Given the description of an element on the screen output the (x, y) to click on. 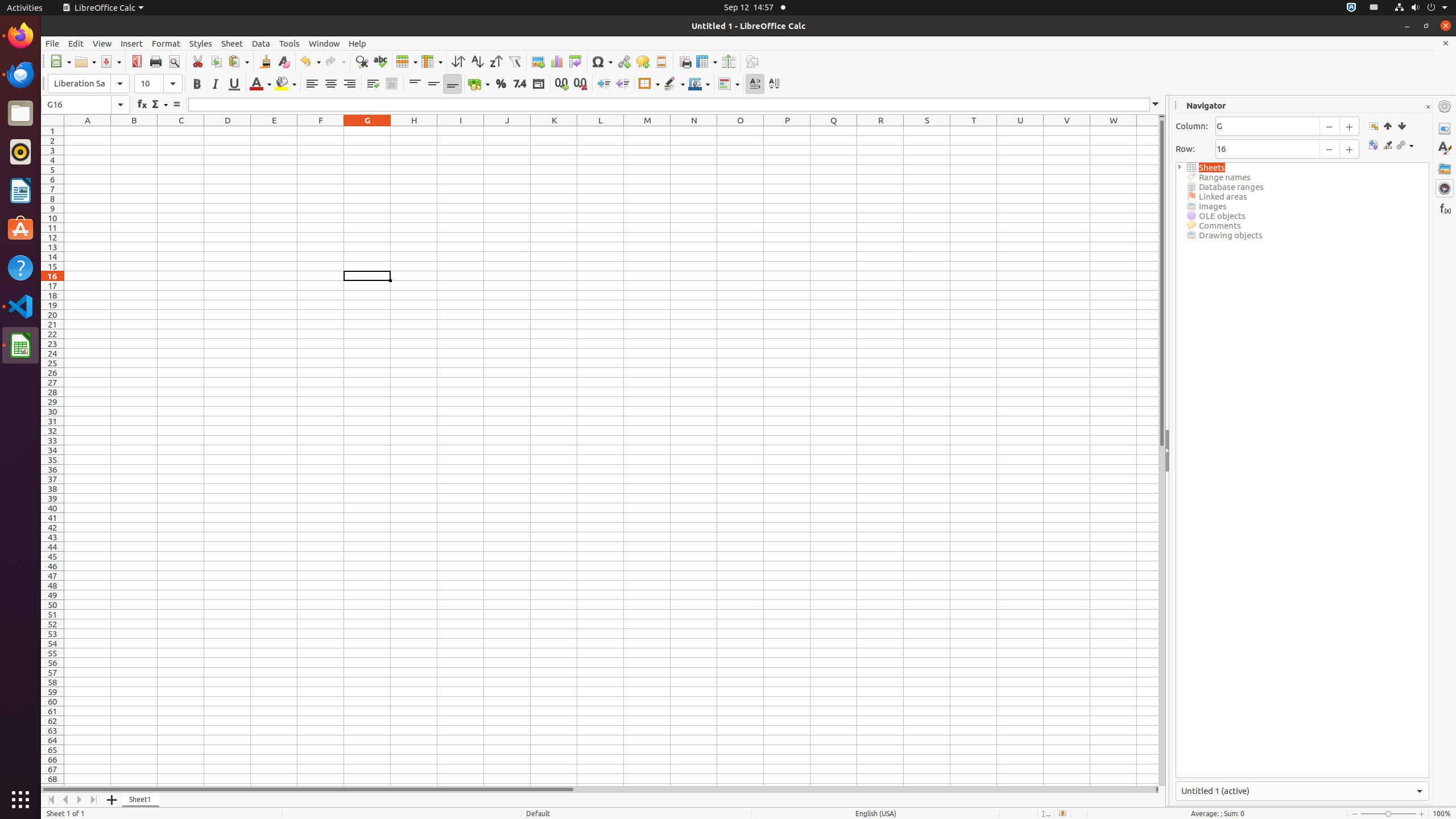
E1 Element type: table-cell (273, 130)
Save Element type: push-button (109, 61)
Comment Element type: push-button (642, 61)
Move To Home Element type: push-button (51, 799)
Align Center Element type: push-button (330, 83)
